Given the description of an element on the screen output the (x, y) to click on. 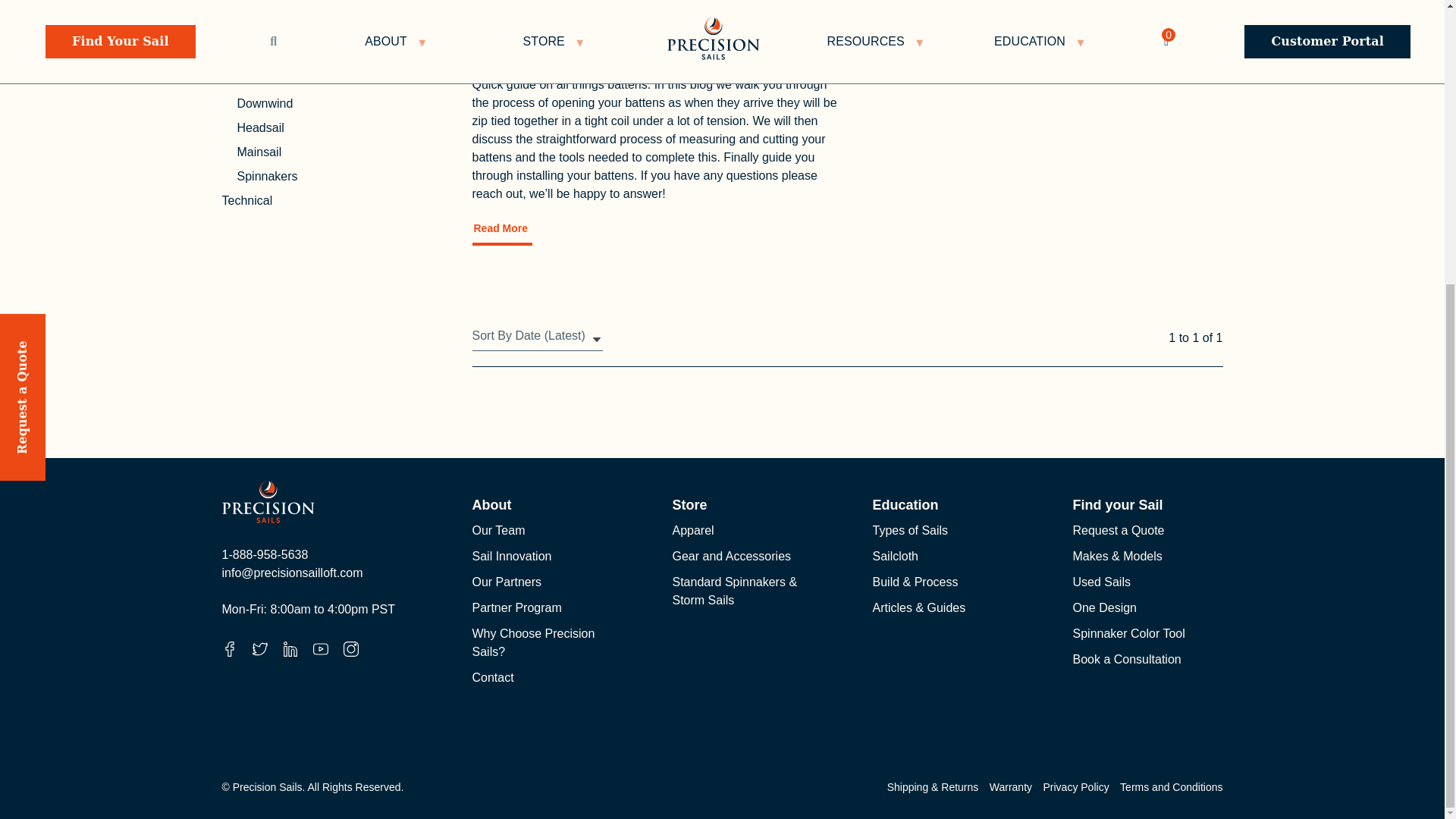
Instagram (350, 648)
Precision Sails (267, 501)
Youtube (320, 648)
Twitter (258, 648)
Facebook (228, 648)
LinkedIn (289, 648)
